Given the description of an element on the screen output the (x, y) to click on. 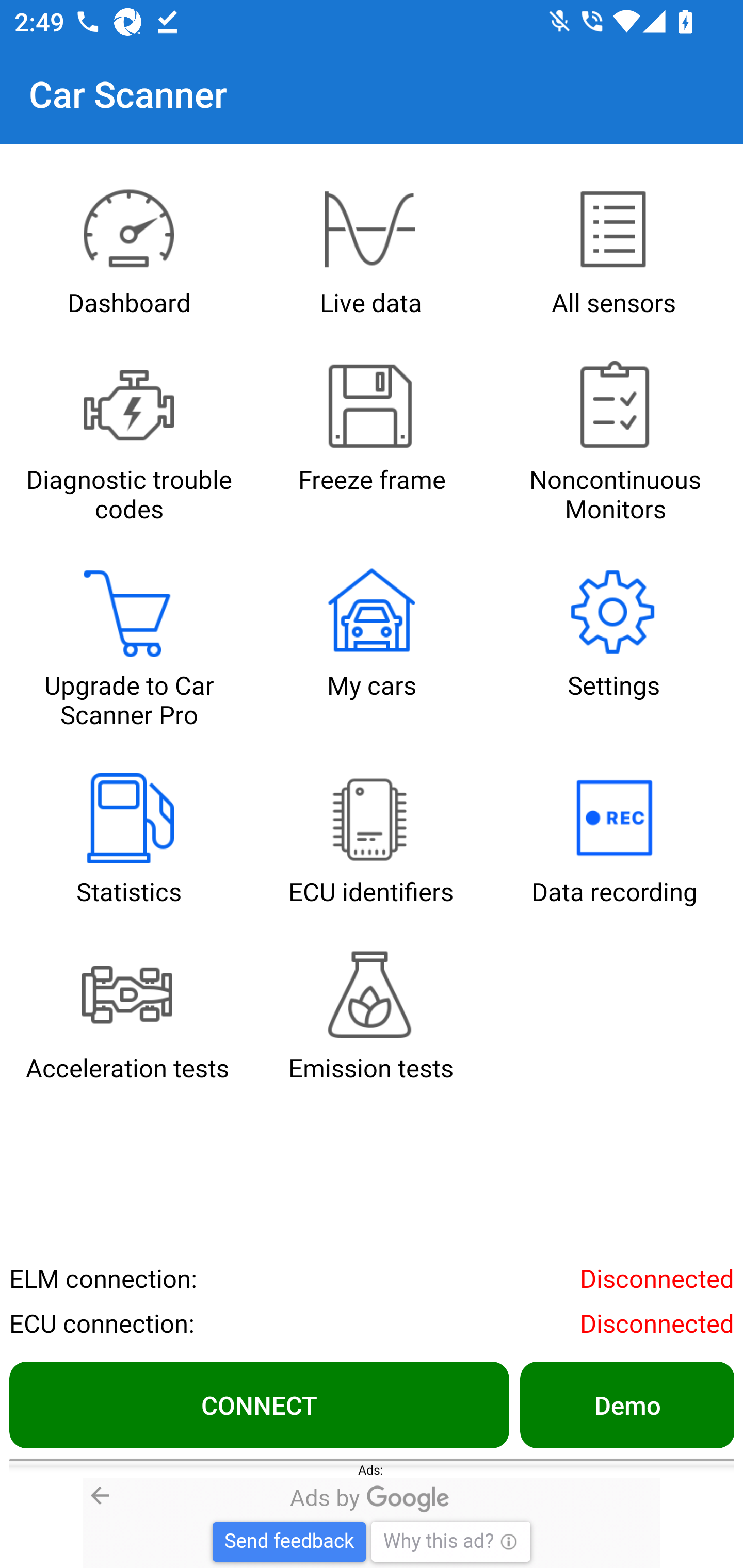
CONNECT (258, 1404)
Demo (627, 1404)
